Given the description of an element on the screen output the (x, y) to click on. 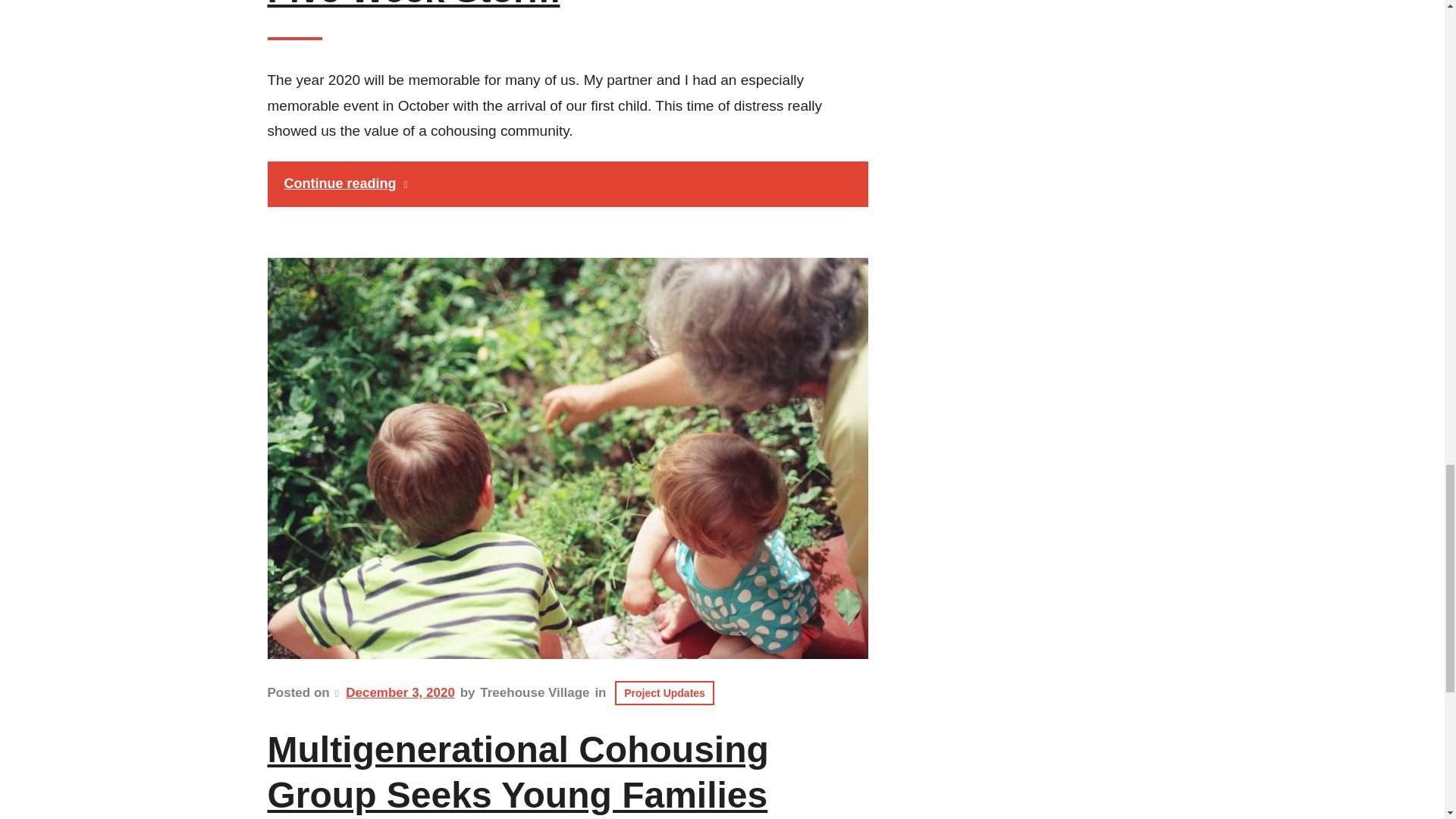
Continue reading (566, 184)
Five Week Storm (412, 6)
December 3, 2020 (400, 692)
